Given the description of an element on the screen output the (x, y) to click on. 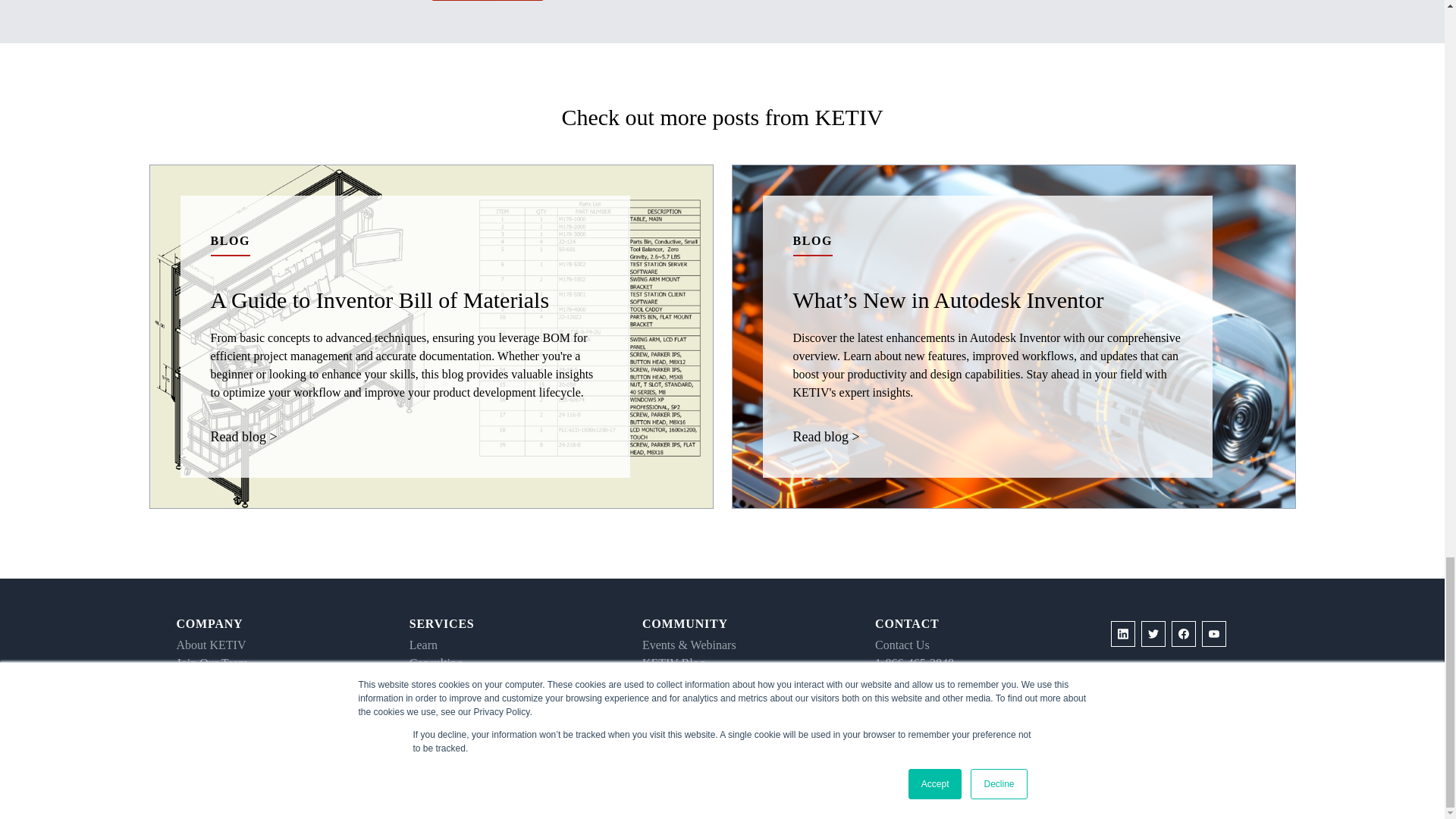
About KETIV (211, 644)
Consulting (436, 662)
Learn (423, 644)
Join Our Team (211, 662)
